Given the description of an element on the screen output the (x, y) to click on. 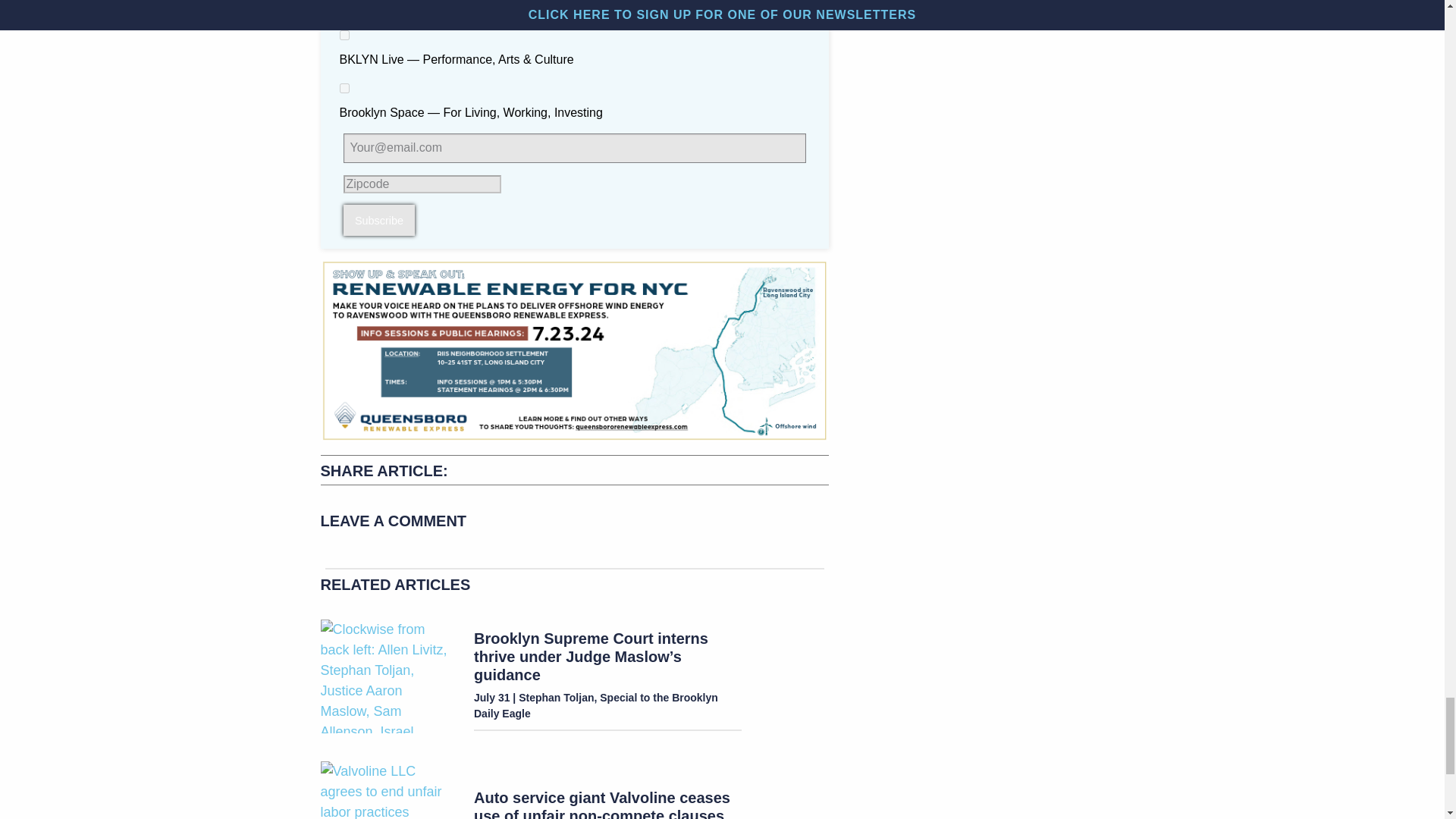
Leave a Comment (574, 524)
Subscribe (378, 219)
Brooklyn Space: Real Estate (344, 88)
BKLYN Live: Arts and Culture (344, 35)
